Given the description of an element on the screen output the (x, y) to click on. 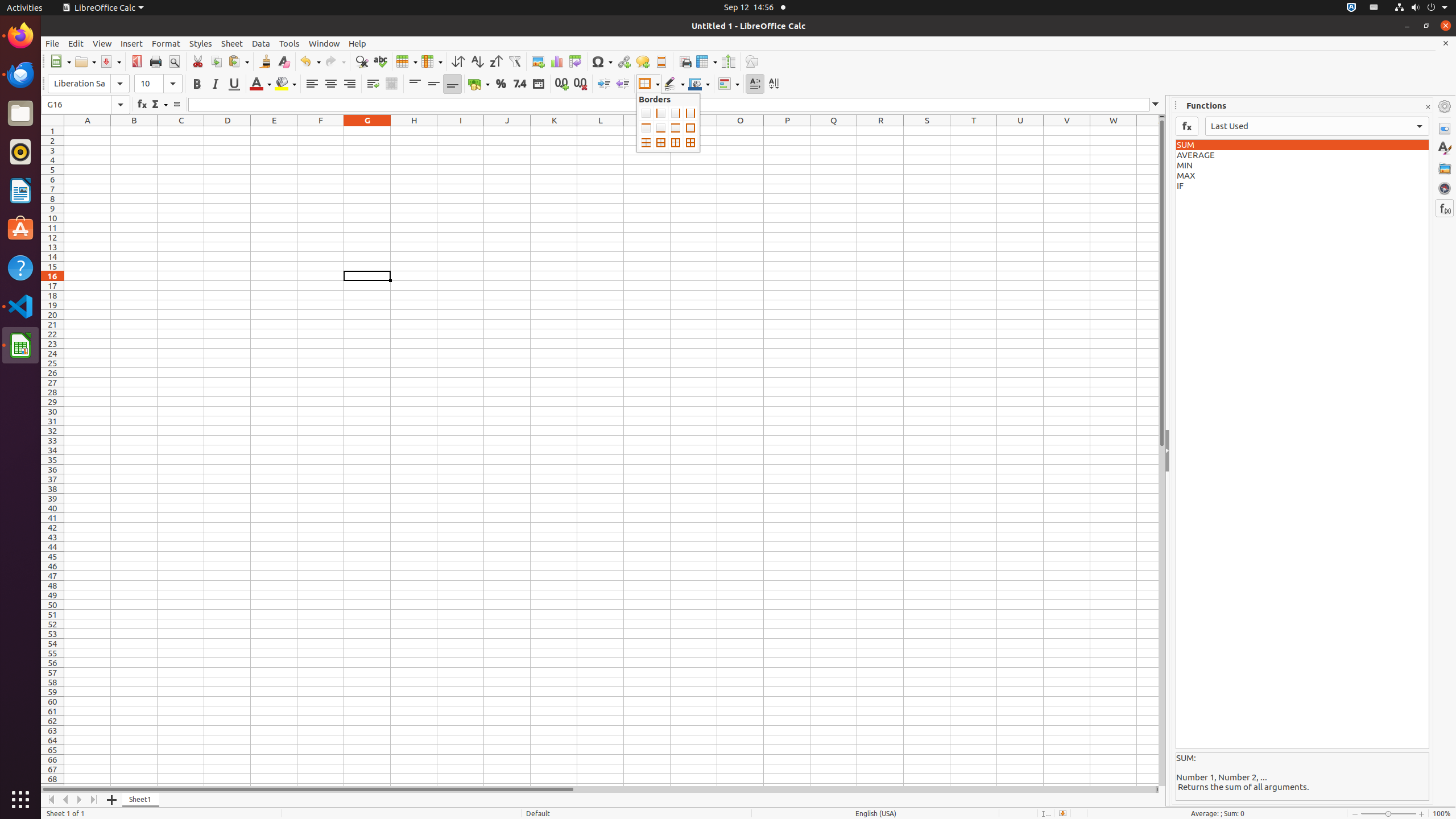
Merge and Center Cells Element type: push-button (391, 83)
Draw Functions Element type: toggle-button (751, 61)
Align Right Element type: push-button (349, 83)
Underline Element type: push-button (233, 83)
PDF Element type: push-button (136, 61)
